Given the description of an element on the screen output the (x, y) to click on. 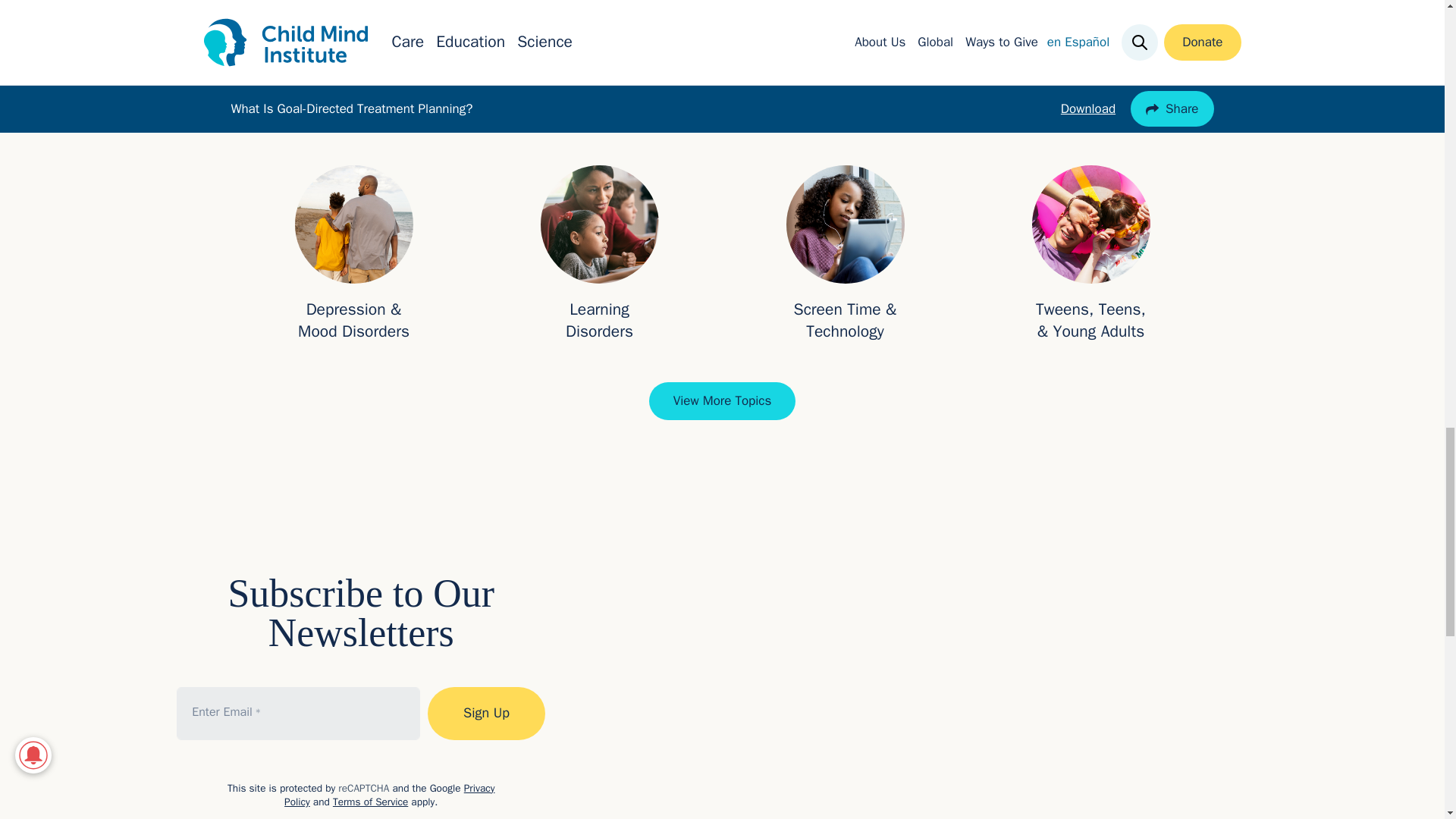
Sign Up (487, 713)
